Given the description of an element on the screen output the (x, y) to click on. 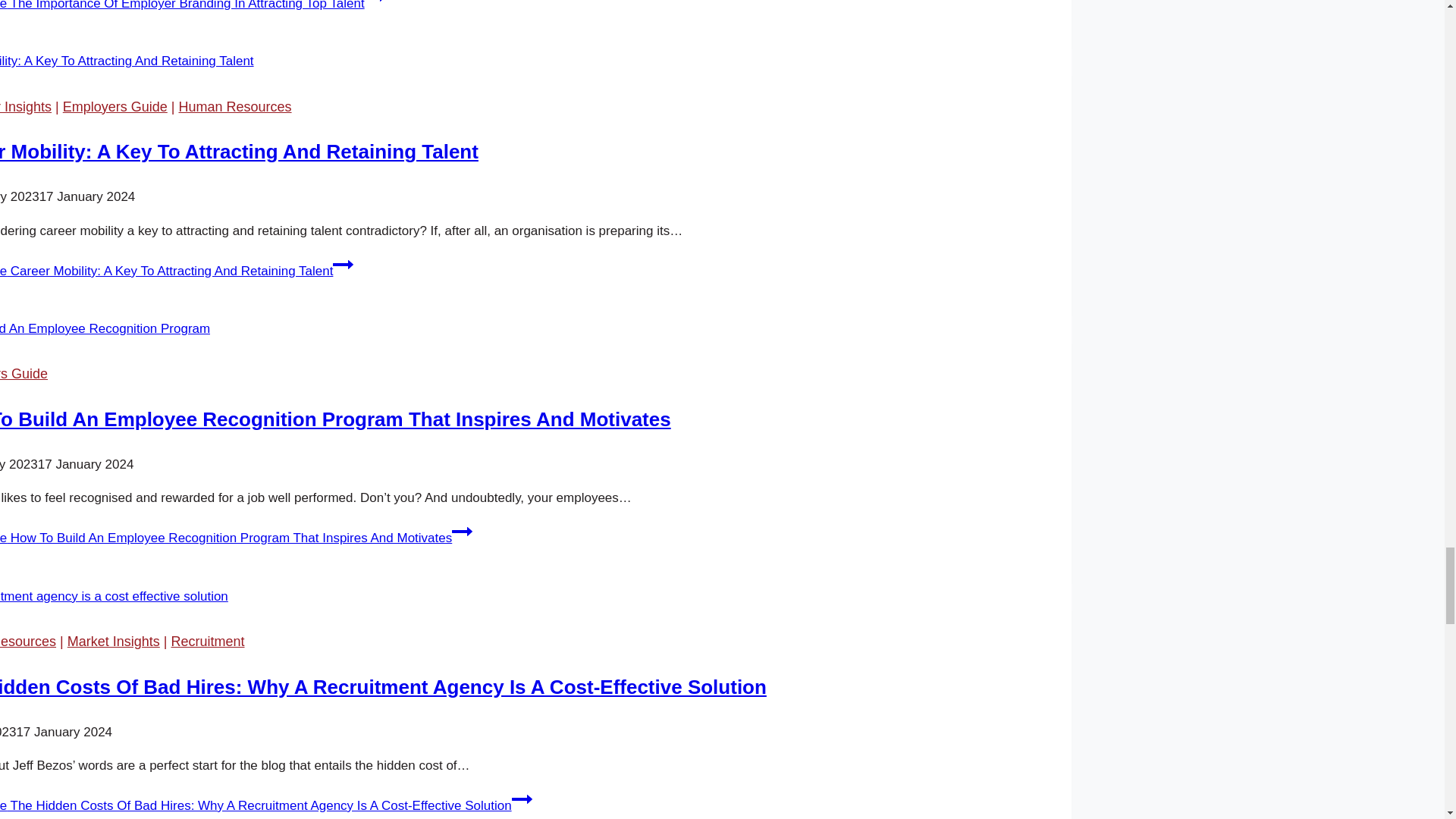
Continue (343, 264)
Continue (522, 798)
Continue (461, 531)
Continue (375, 3)
